Given the description of an element on the screen output the (x, y) to click on. 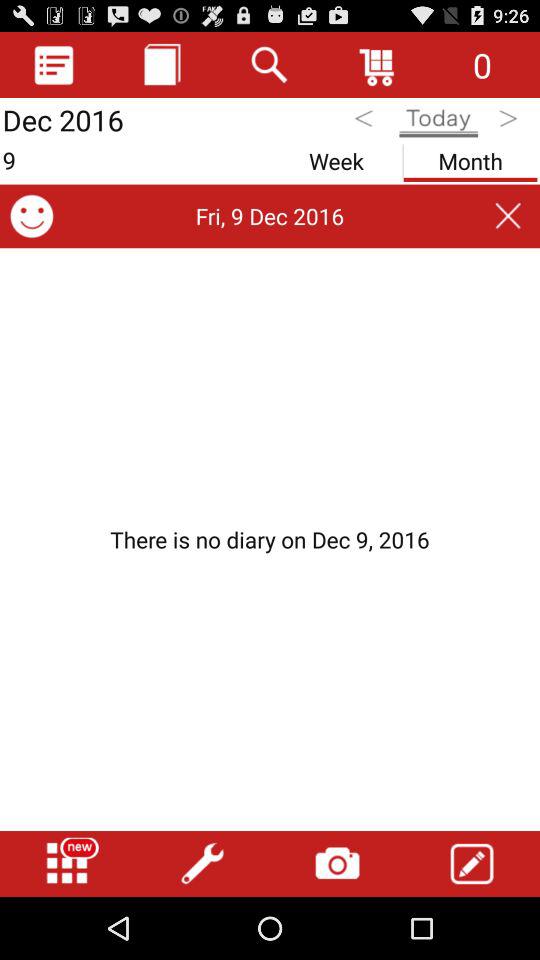
toggle entry (472, 863)
